Given the description of an element on the screen output the (x, y) to click on. 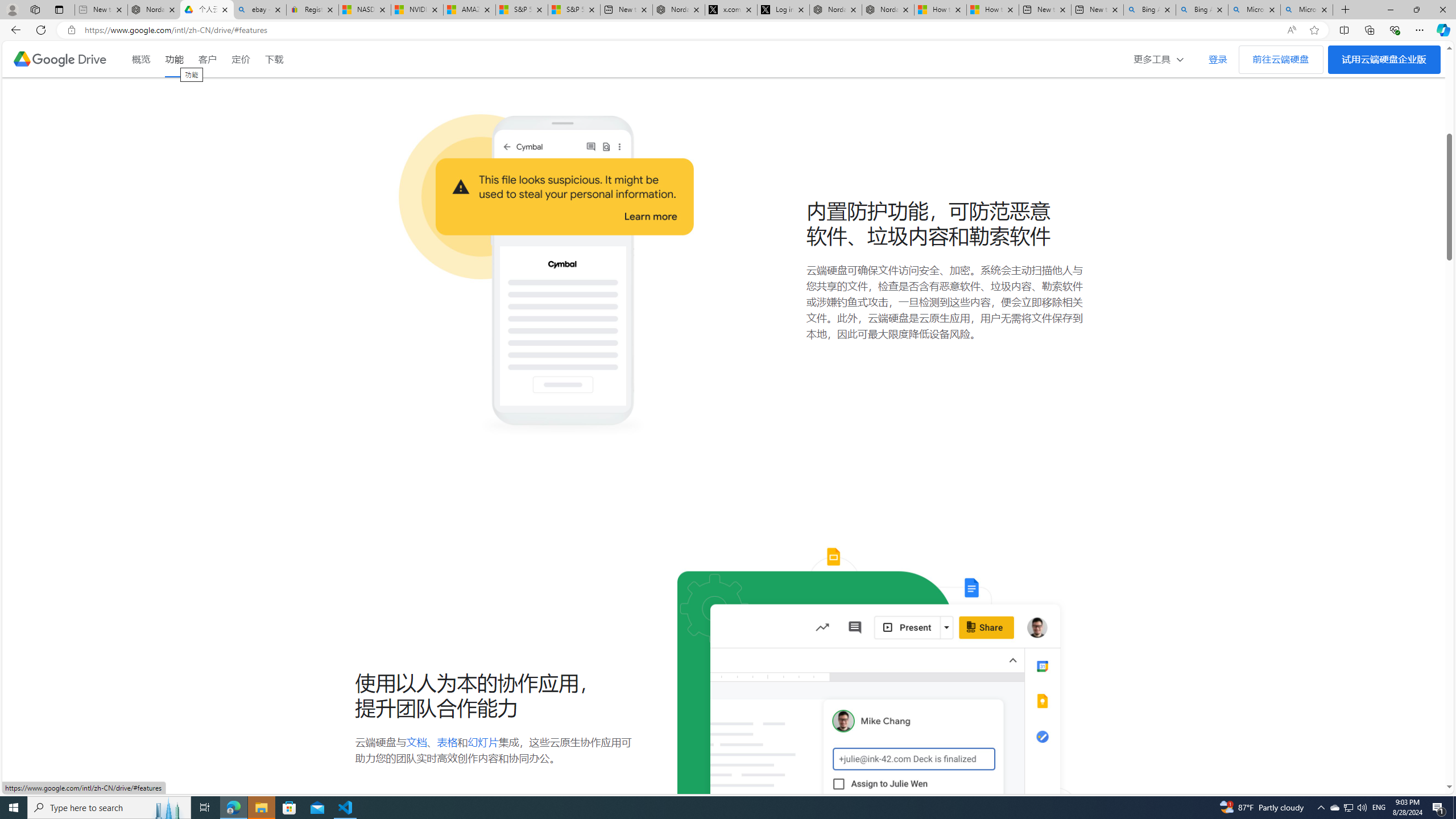
Log in to X / X (782, 9)
x.com/NordaceOfficial (730, 9)
